Given the description of an element on the screen output the (x, y) to click on. 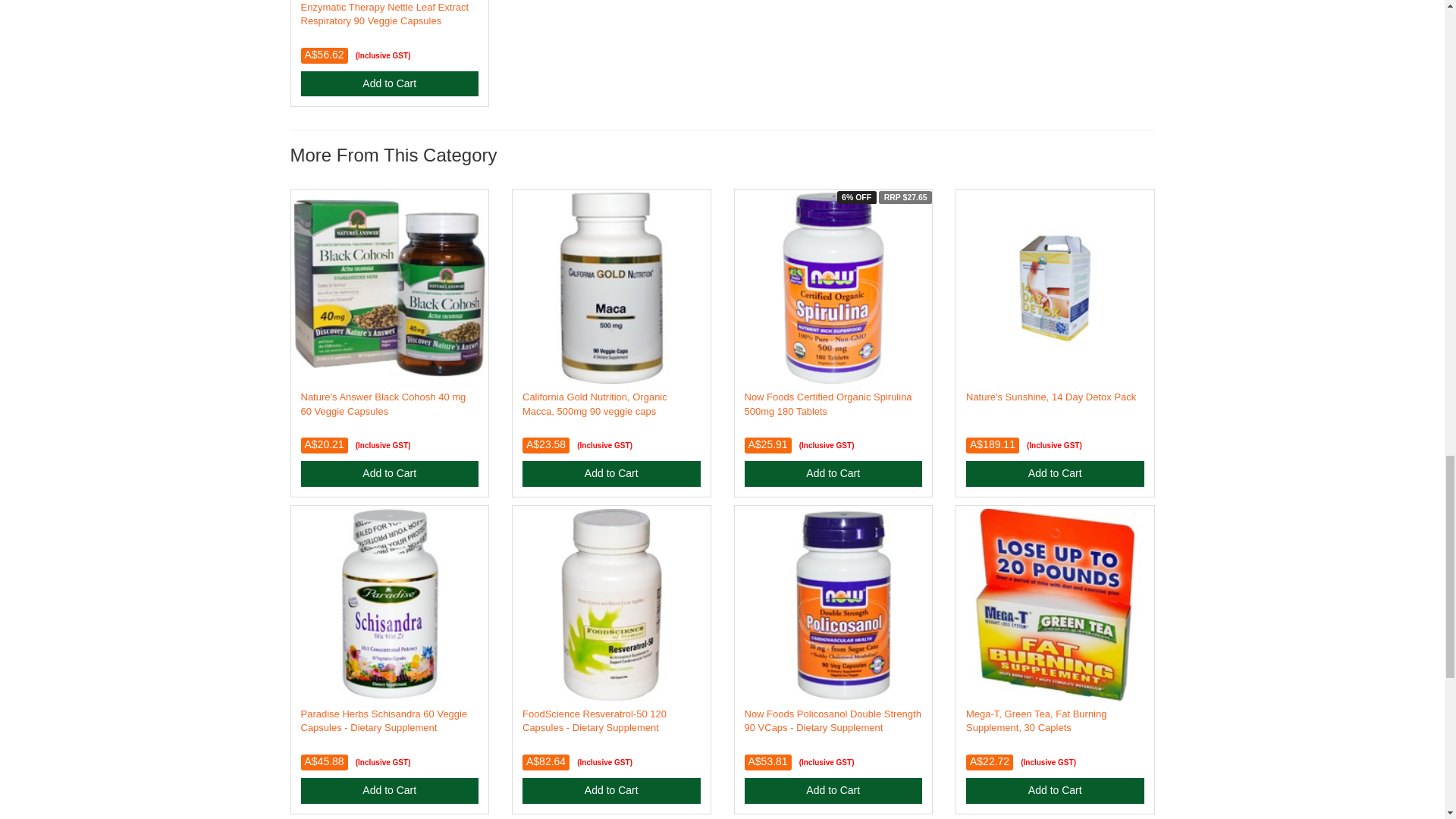
Add to Cart (389, 84)
Nature's Sunshine, 14 Day Detox Pack (1050, 396)
Add to Cart (833, 473)
Add to Cart (611, 473)
Add to Cart (389, 473)
Nature's Answer Black Cohosh 40 mg 60 Veggie Capsules (382, 403)
Now Foods Certified Organic Spirulina 500mg 180 Tablets (828, 403)
